Given the description of an element on the screen output the (x, y) to click on. 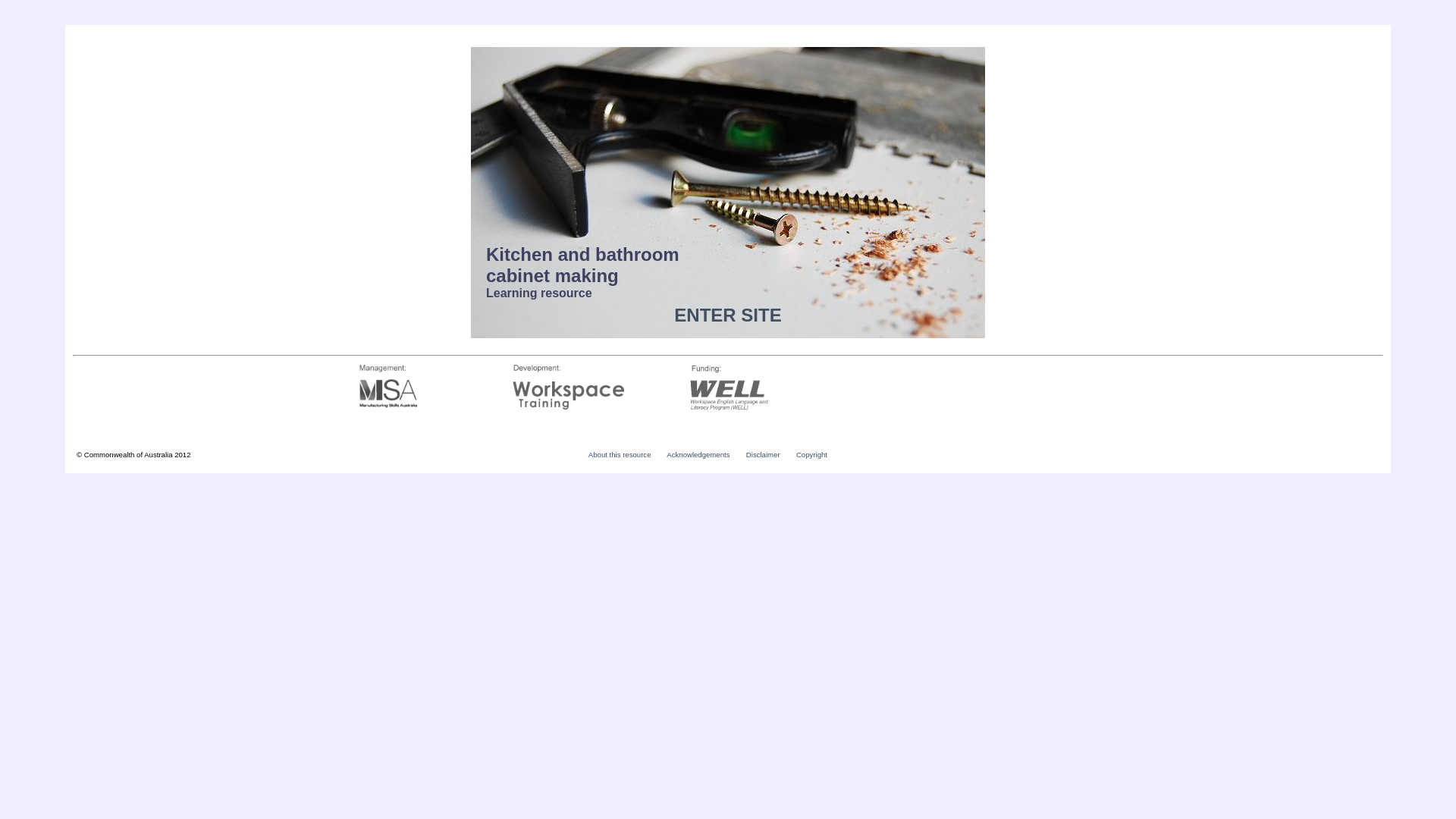
Acknowledgements Element type: text (697, 454)
ENTER SITE Element type: text (727, 314)
Copyright Element type: text (811, 454)
About this resource Element type: text (619, 454)
Disclaimer Element type: text (763, 454)
